Given the description of an element on the screen output the (x, y) to click on. 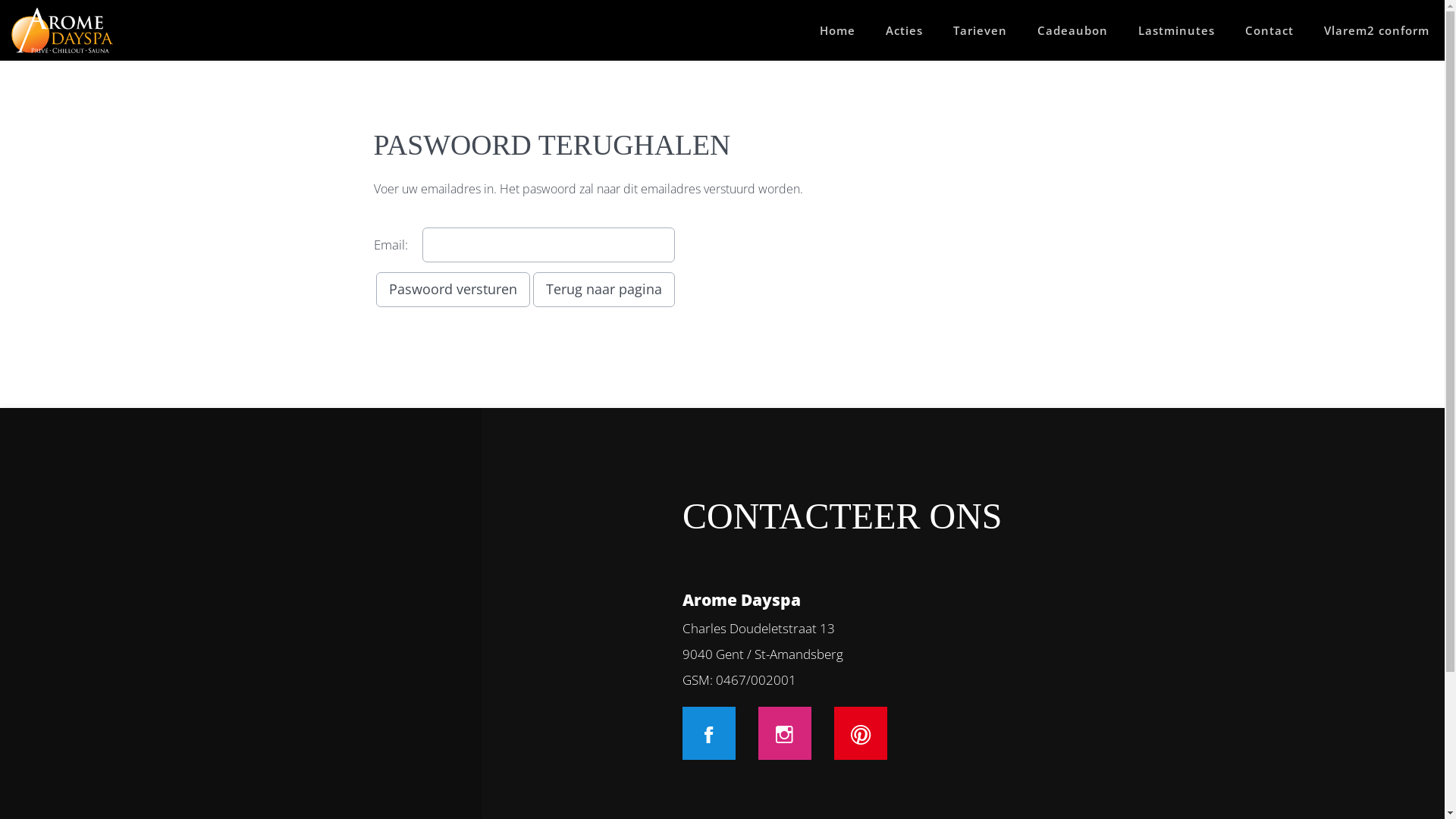
 Paswoord versturen  Element type: text (453, 289)
Instagram Element type: hover (784, 732)
Home Element type: text (837, 30)
Contact Element type: text (1269, 30)
Terug naar pagina Element type: text (603, 289)
Tarieven Element type: text (980, 30)
Vlarem2 conform Element type: text (1376, 30)
Acties Element type: text (904, 30)
Pinterest Element type: hover (860, 732)
Facebook Element type: hover (708, 732)
Lastminutes Element type: text (1176, 30)
Cadeaubon Element type: text (1072, 30)
